Given the description of an element on the screen output the (x, y) to click on. 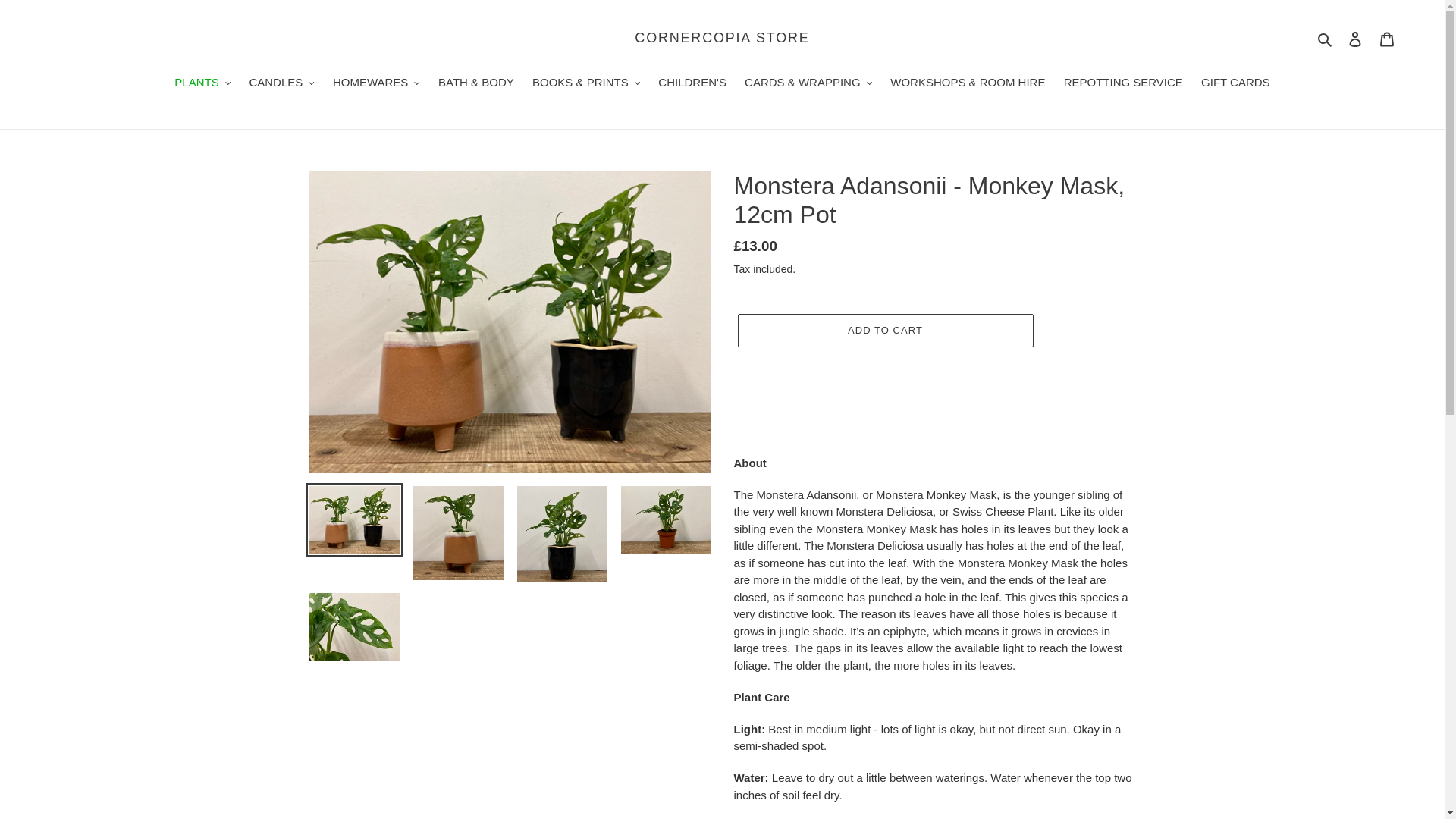
Search (1326, 38)
Cart (1387, 38)
Log in (1355, 38)
CORNERCOPIA STORE (721, 38)
